Given the description of an element on the screen output the (x, y) to click on. 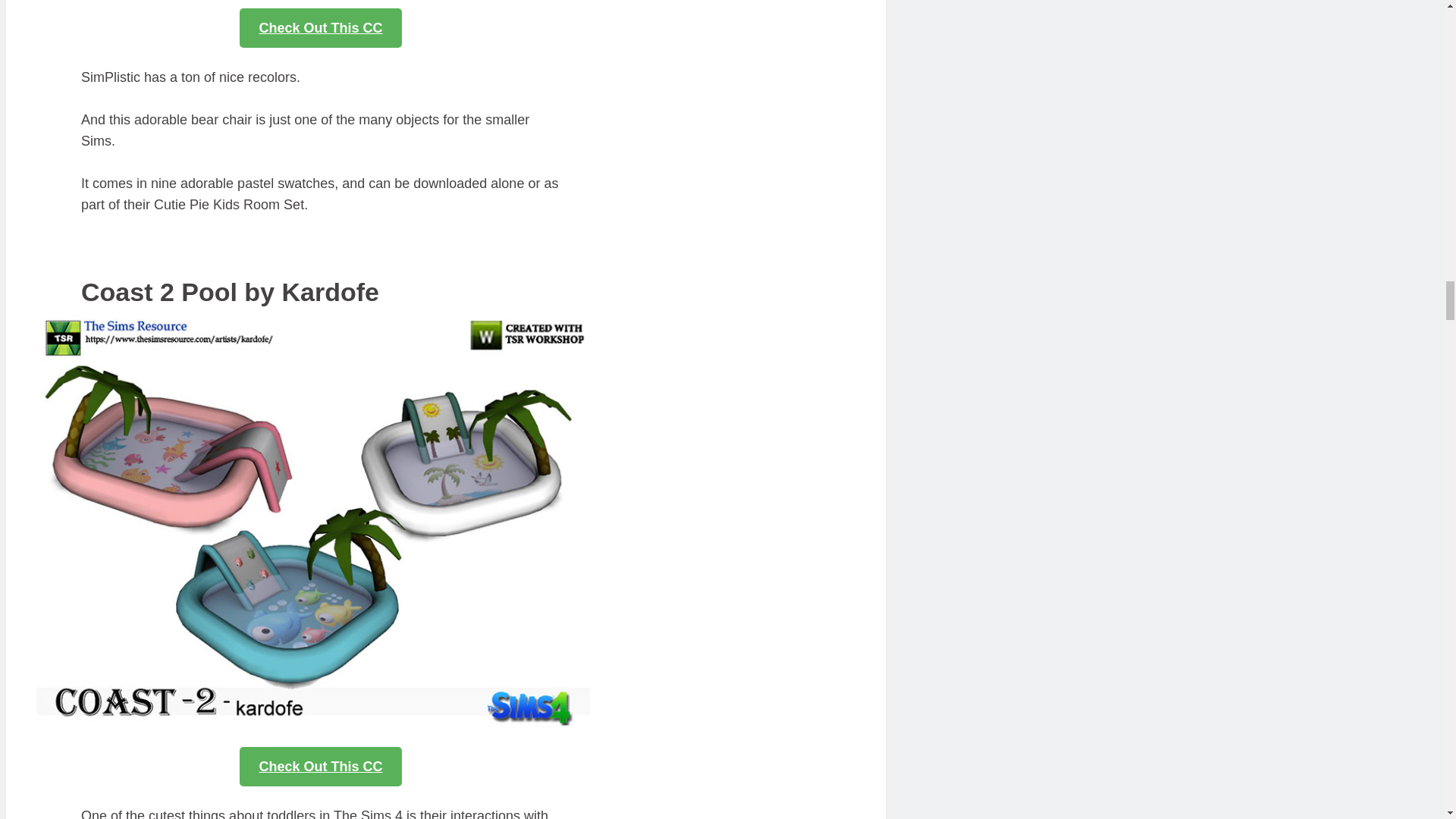
Check Out This CC (320, 766)
Check Out This CC (320, 27)
